Given the description of an element on the screen output the (x, y) to click on. 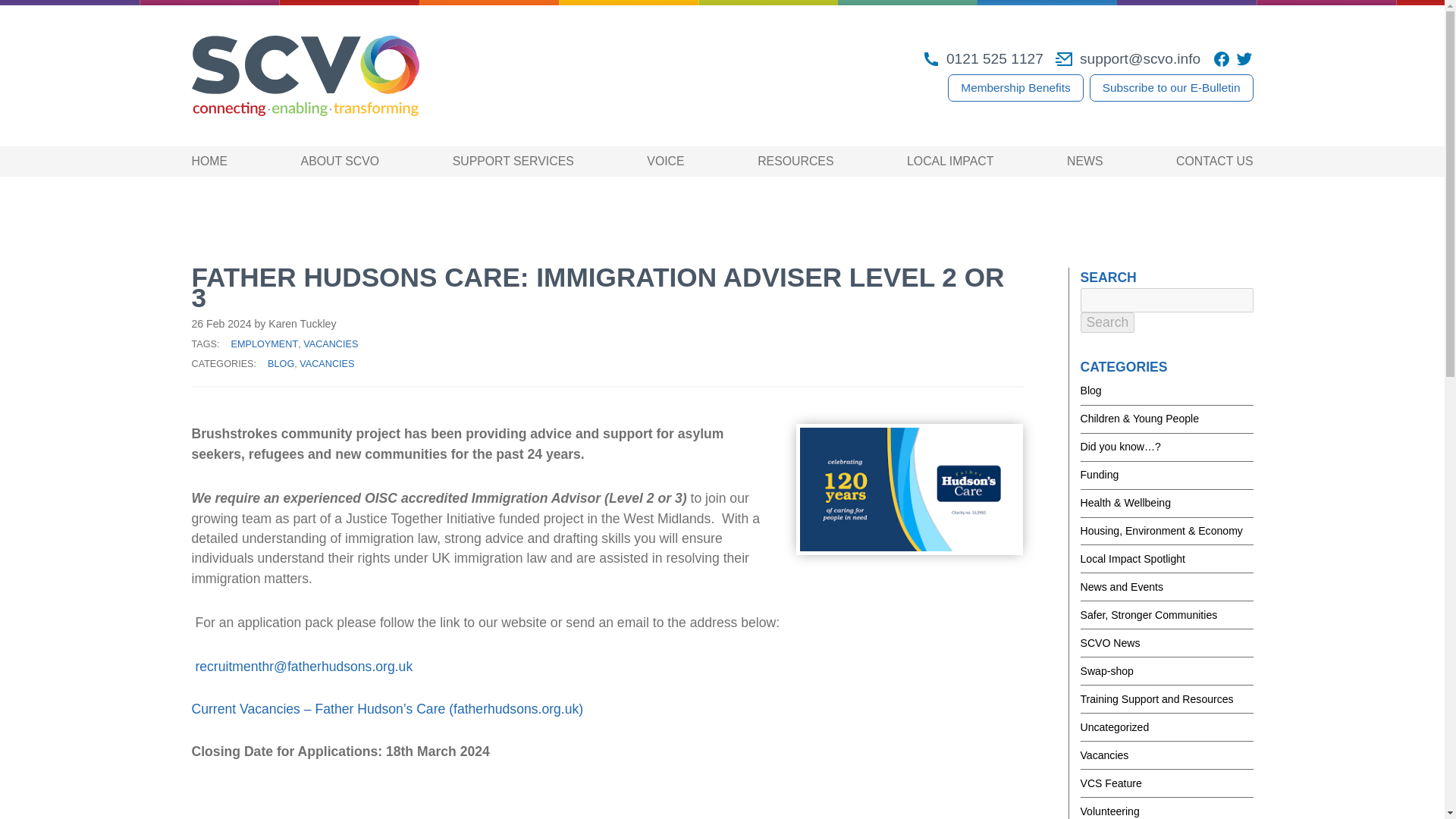
SUPPORT SERVICES (512, 160)
VOICE (665, 160)
Subscribe to our E-Bulletin (1171, 87)
Membership Benefits (1015, 87)
RESOURCES (794, 160)
ABOUT SCVO (340, 160)
Search (1107, 322)
HOME (208, 160)
